Given the description of an element on the screen output the (x, y) to click on. 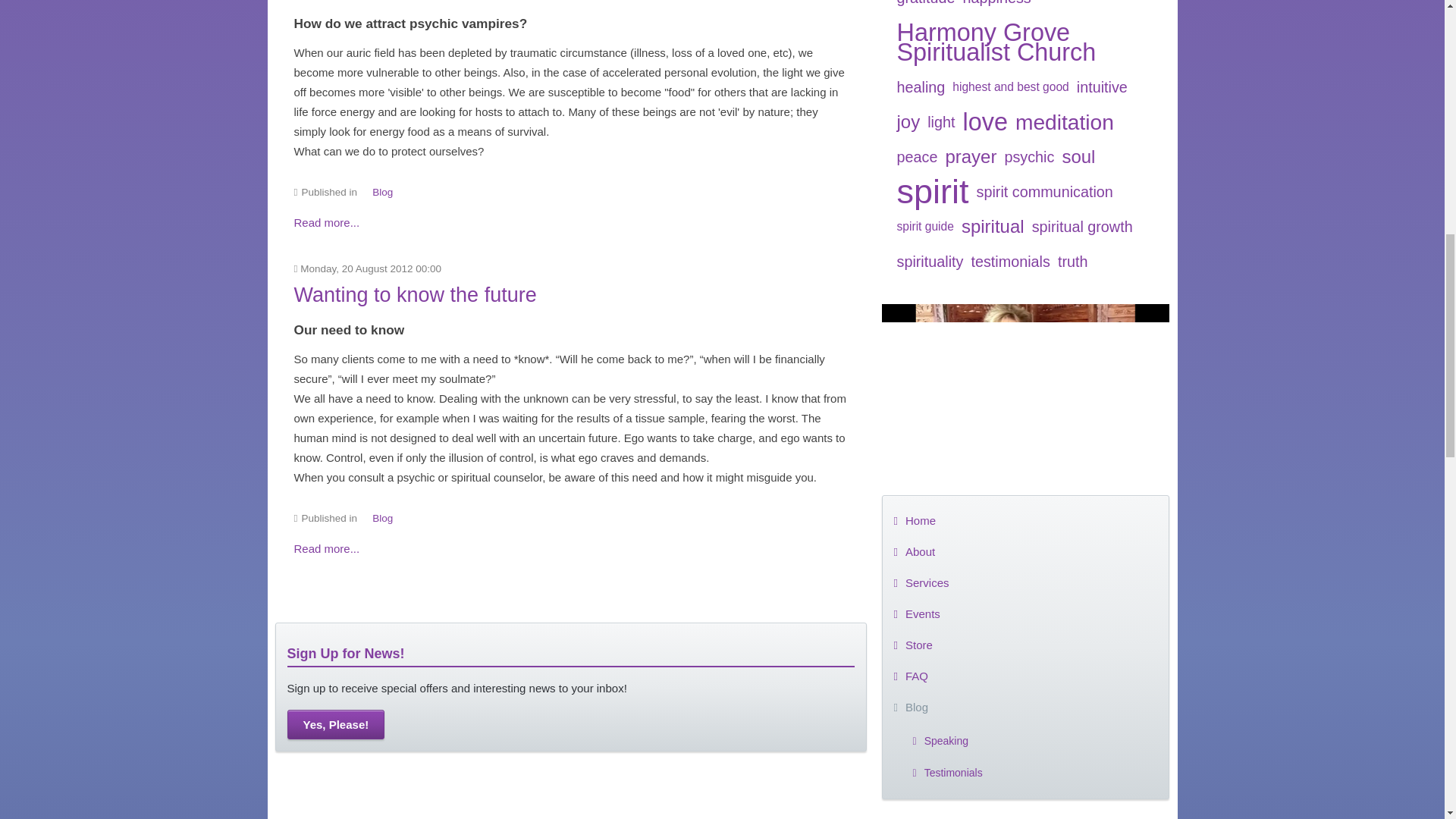
4 items tagged with joy (908, 121)
6 items tagged with love (984, 121)
3 items tagged with peace (917, 156)
3 items tagged with gratitude (926, 7)
5 items tagged with meditation (1064, 121)
4 items tagged with prayer (970, 156)
3 items tagged with intuitive (1102, 86)
3 items tagged with happiness (995, 7)
6 items tagged with Harmony Grove Spiritualist Church (1025, 42)
3 items tagged with light (940, 121)
